Given the description of an element on the screen output the (x, y) to click on. 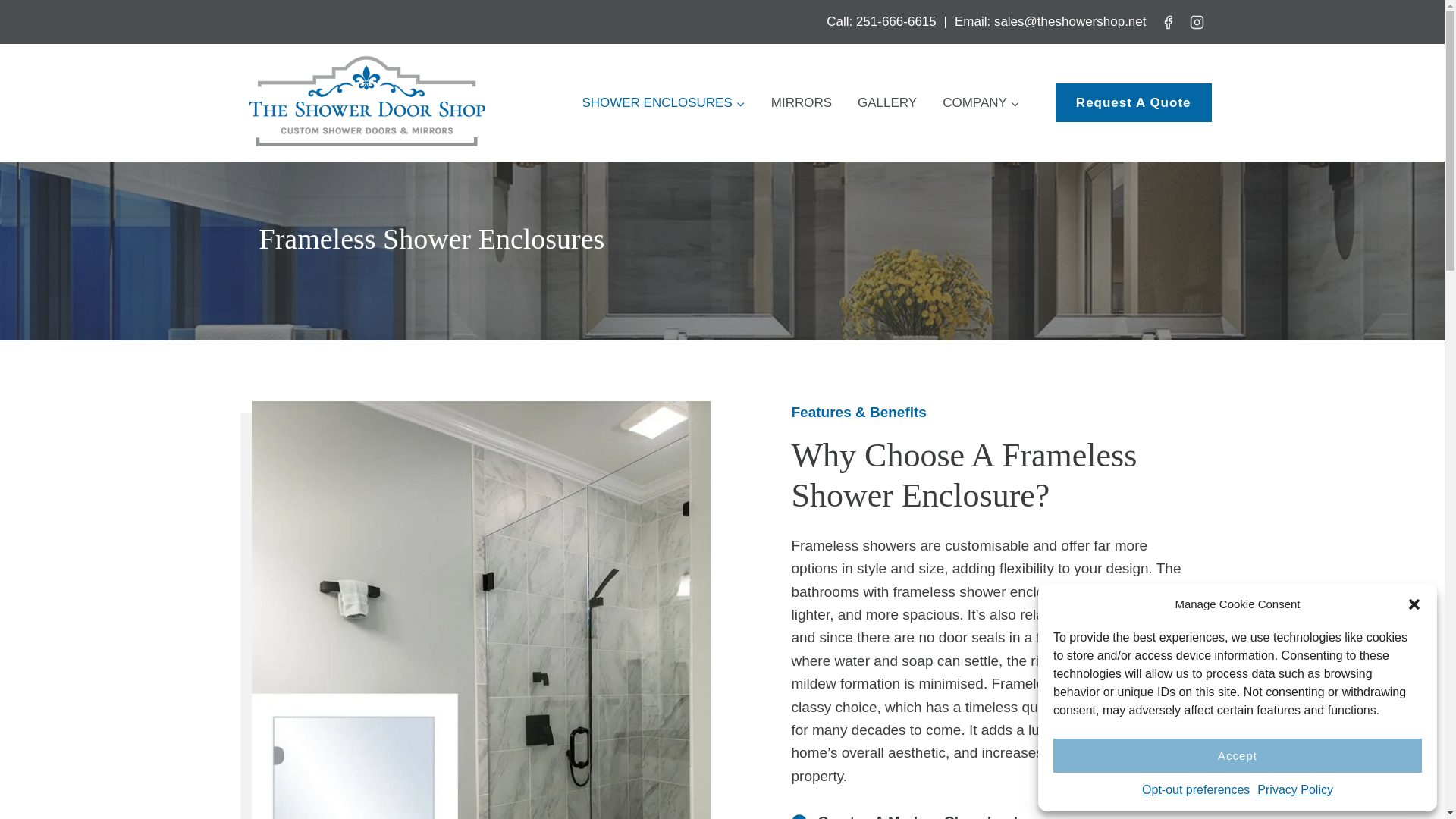
Request A Quote (1133, 102)
SHOWER ENCLOSURES (663, 103)
GALLERY (887, 103)
Opt-out preferences (1195, 790)
251-666-6615 (896, 21)
COMPANY (981, 103)
Accept (1237, 755)
MIRRORS (801, 103)
Privacy Policy (1295, 790)
